Given the description of an element on the screen output the (x, y) to click on. 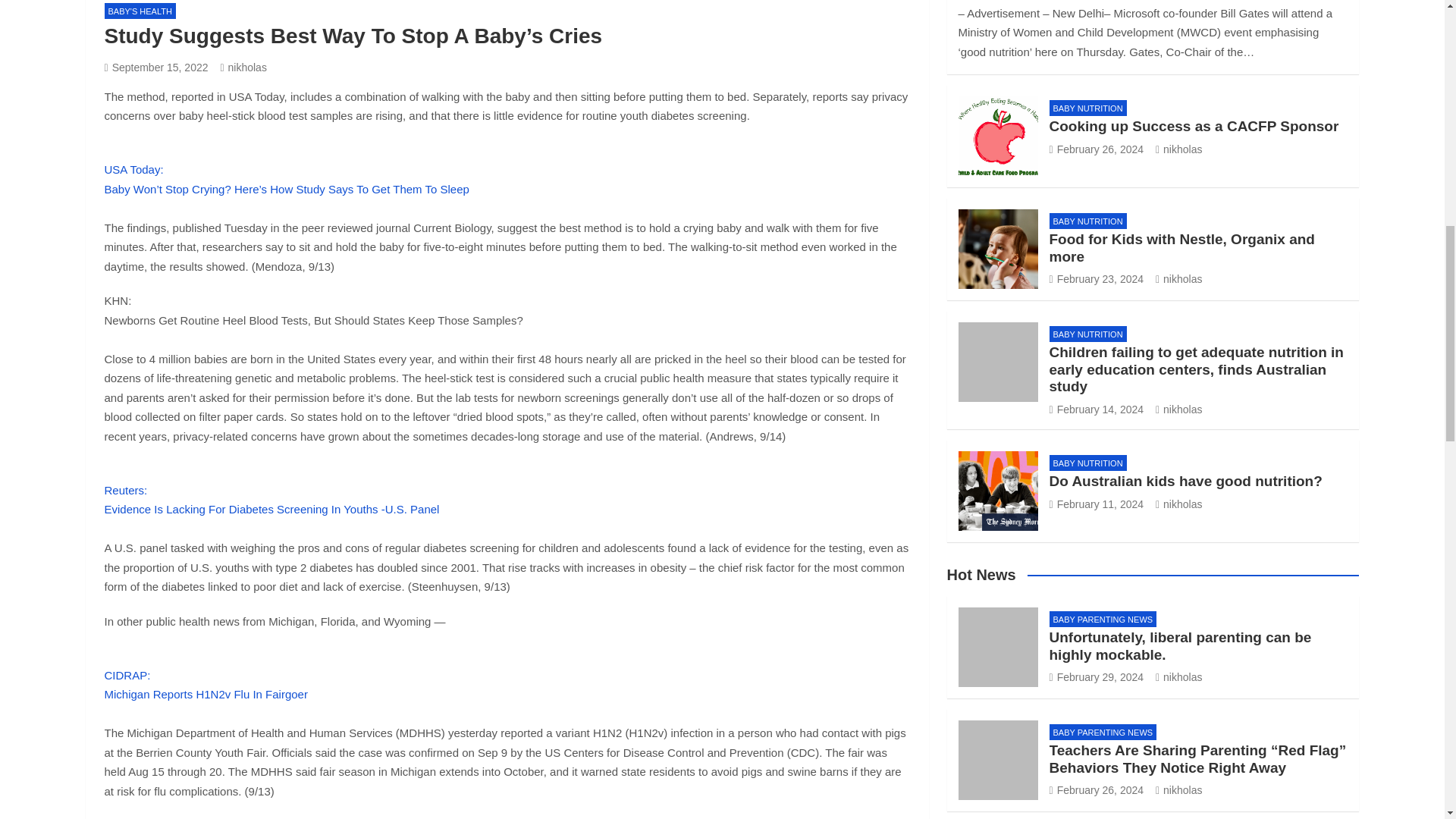
Cooking up Success as a CACFP Sponsor (1096, 149)
nikholas (205, 694)
Do Australian kids have good nutrition? (242, 67)
BABY'S HEALTH (1096, 503)
Unfortunately, liberal parenting can be highly mockable. (140, 10)
September 15, 2022 (1096, 676)
Food for Kids with Nestle, Organix and more (156, 67)
